Given the description of an element on the screen output the (x, y) to click on. 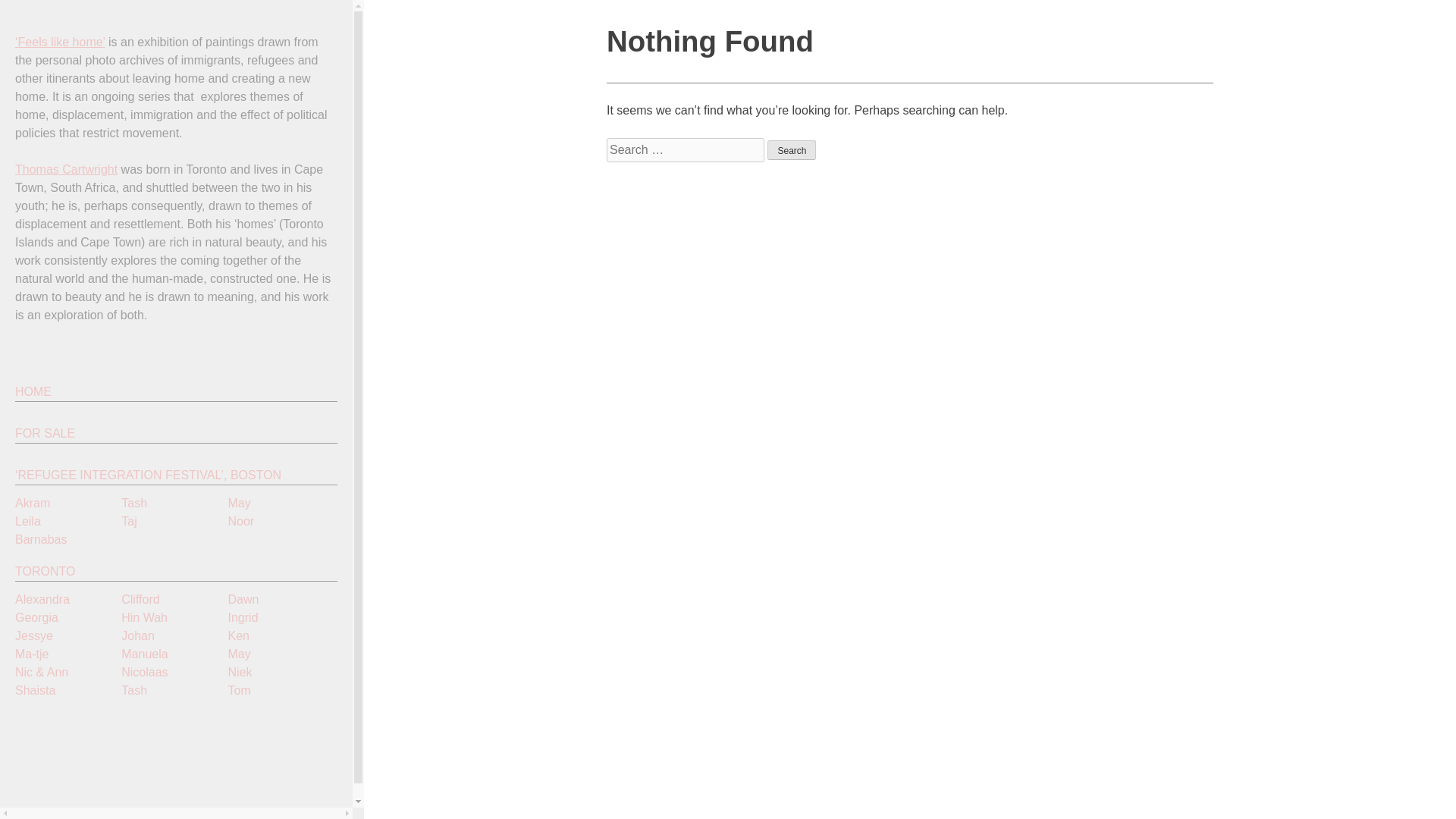
Search (791, 149)
Thomas Cartwright (65, 169)
Search (791, 149)
Search (791, 149)
HOME (175, 392)
